Given the description of an element on the screen output the (x, y) to click on. 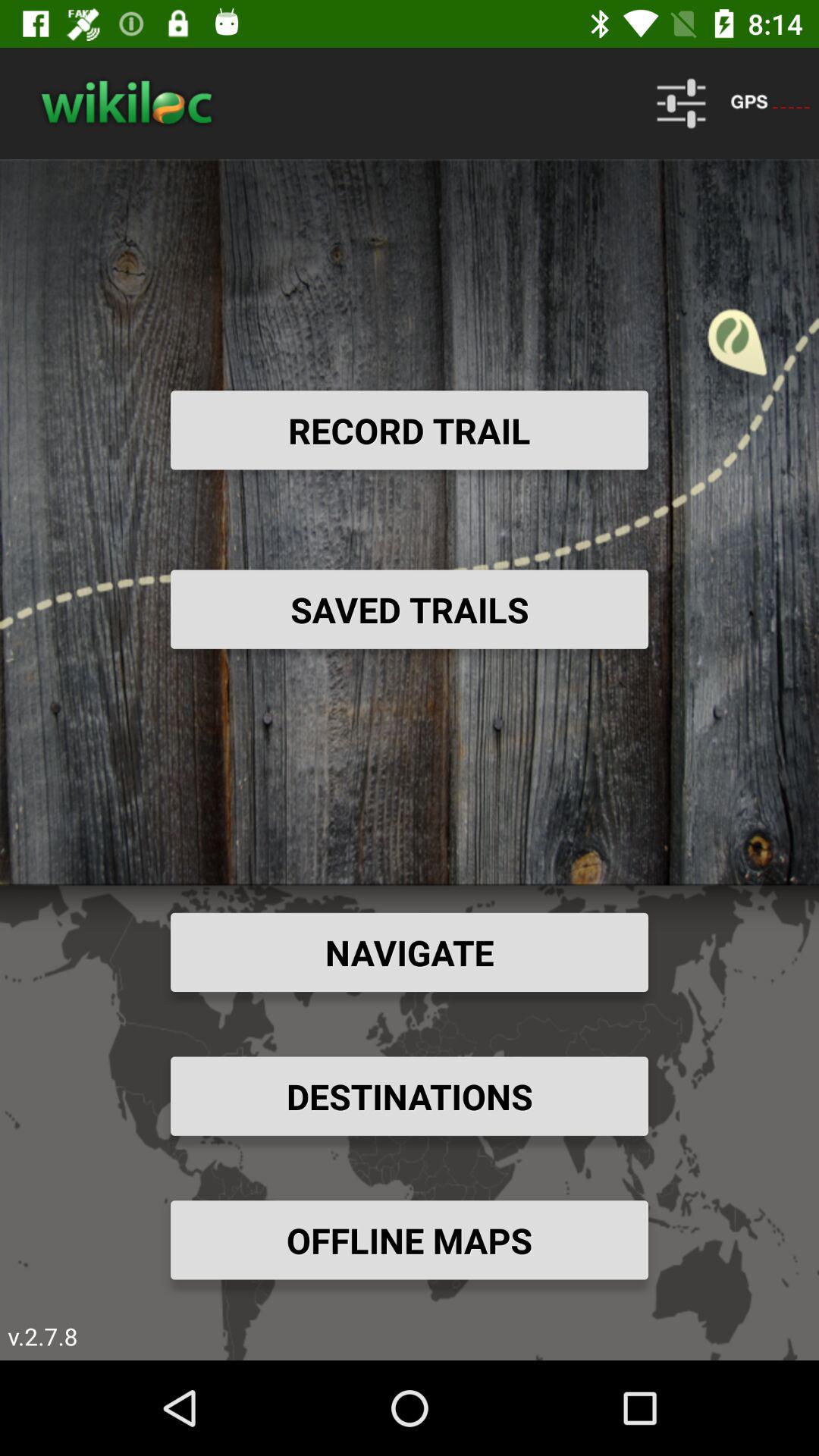
turn on icon above destinations (409, 951)
